Given the description of an element on the screen output the (x, y) to click on. 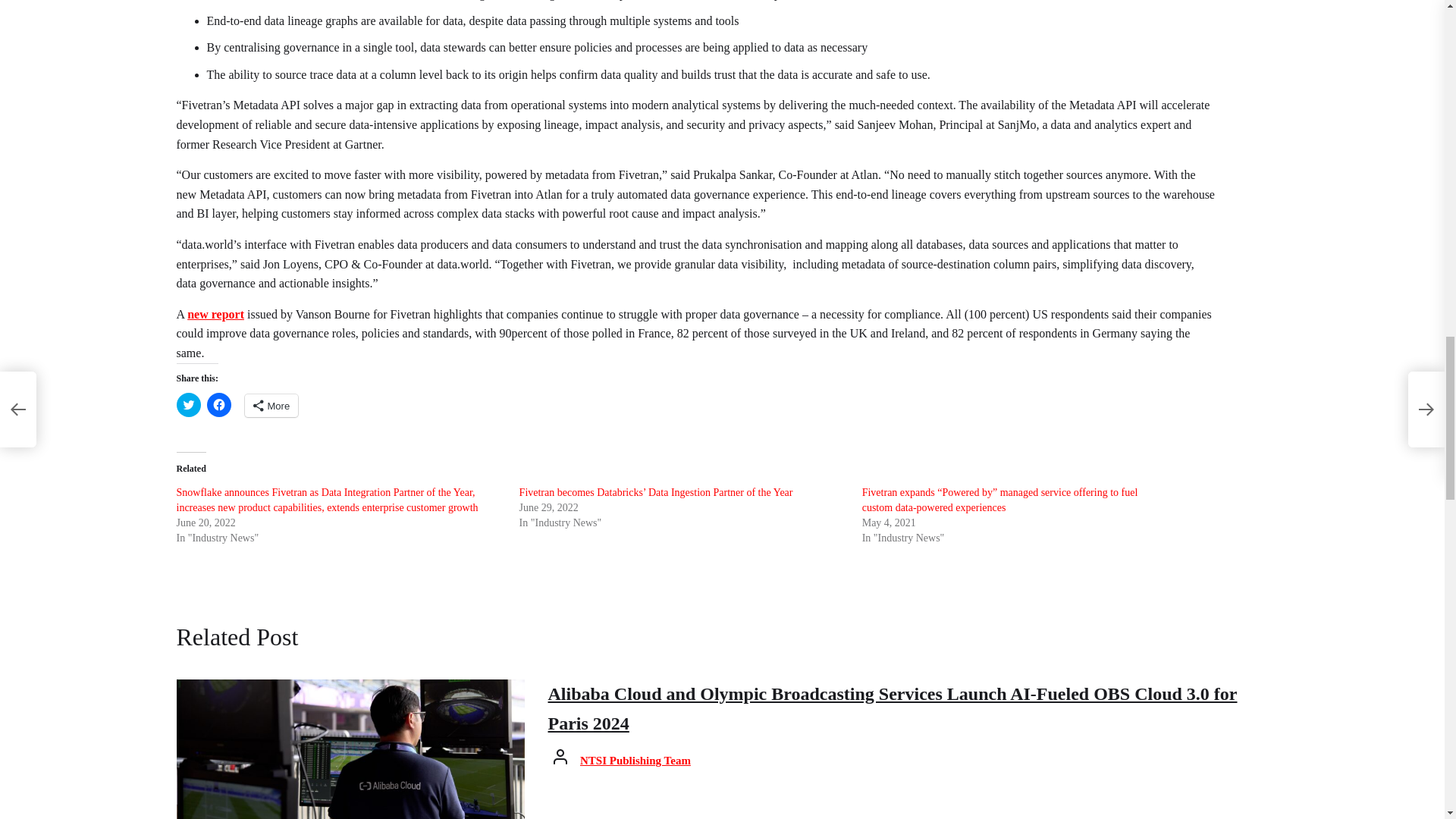
Click to share on Facebook (218, 404)
Click to share on Twitter (188, 404)
